Given the description of an element on the screen output the (x, y) to click on. 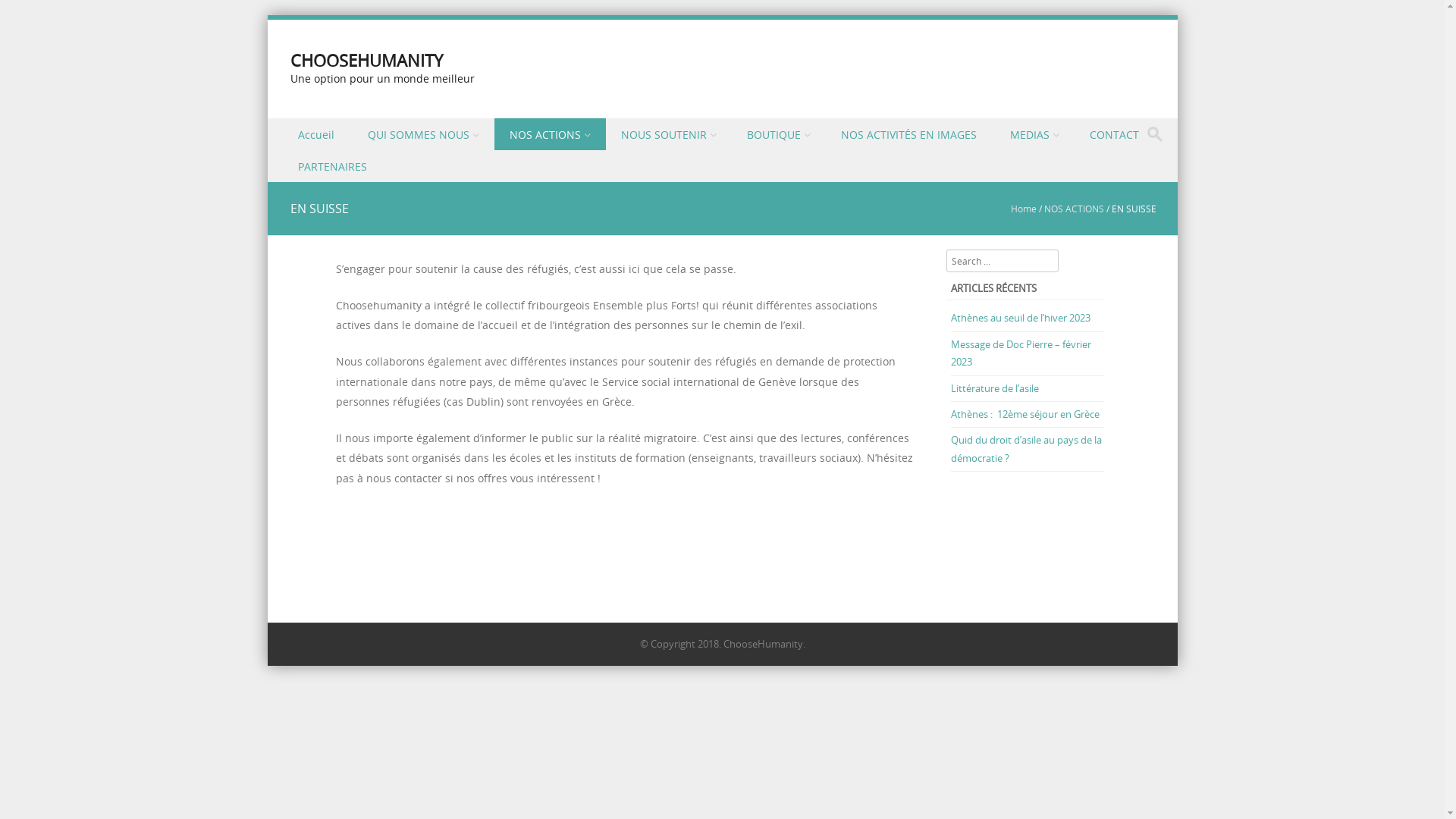
CONTACT Element type: text (1114, 134)
PARTENAIRES Element type: text (333, 166)
Menu Element type: text (294, 151)
CHOOSEHUMANITY Element type: text (365, 60)
NOS ACTIONS Element type: text (1073, 208)
MEDIAS Element type: text (1034, 134)
NOUS SOUTENIR Element type: text (668, 134)
BOUTIQUE Element type: text (778, 134)
Skip to content Element type: text (304, 127)
Search for: Element type: hover (1158, 133)
NOS ACTIONS Element type: text (549, 134)
Home Element type: text (1022, 208)
Search Element type: text (26, 14)
Accueil Element type: text (316, 134)
QUI SOMMES NOUS Element type: text (422, 134)
